Given the description of an element on the screen output the (x, y) to click on. 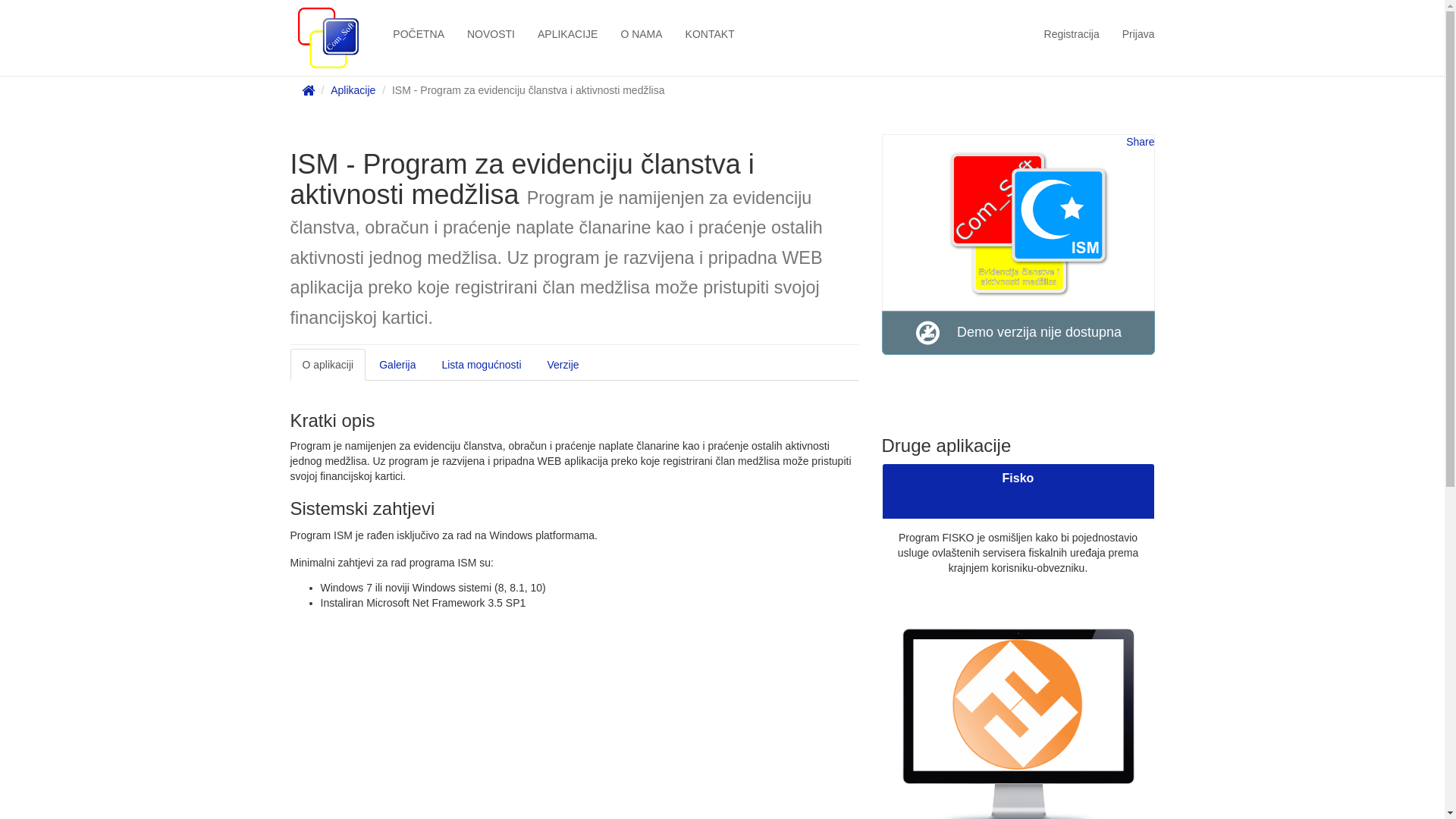
Prijava Element type: text (1138, 34)
Aplikacije Element type: text (352, 90)
Registracija Element type: text (1071, 34)
O aplikaciji Element type: text (327, 364)
Termini - Evidentiranje termina, resursa i klijenata Element type: text (1024, 484)
Verzije Element type: text (563, 364)
KONTAKT Element type: text (710, 34)
Galerija Element type: text (397, 364)
O NAMA Element type: text (640, 34)
Share Element type: text (1140, 141)
APLIKACIJE Element type: text (567, 34)
   Demo verzija nije dostupna Element type: text (1017, 332)
NOVOSTI Element type: text (490, 34)
